Given the description of an element on the screen output the (x, y) to click on. 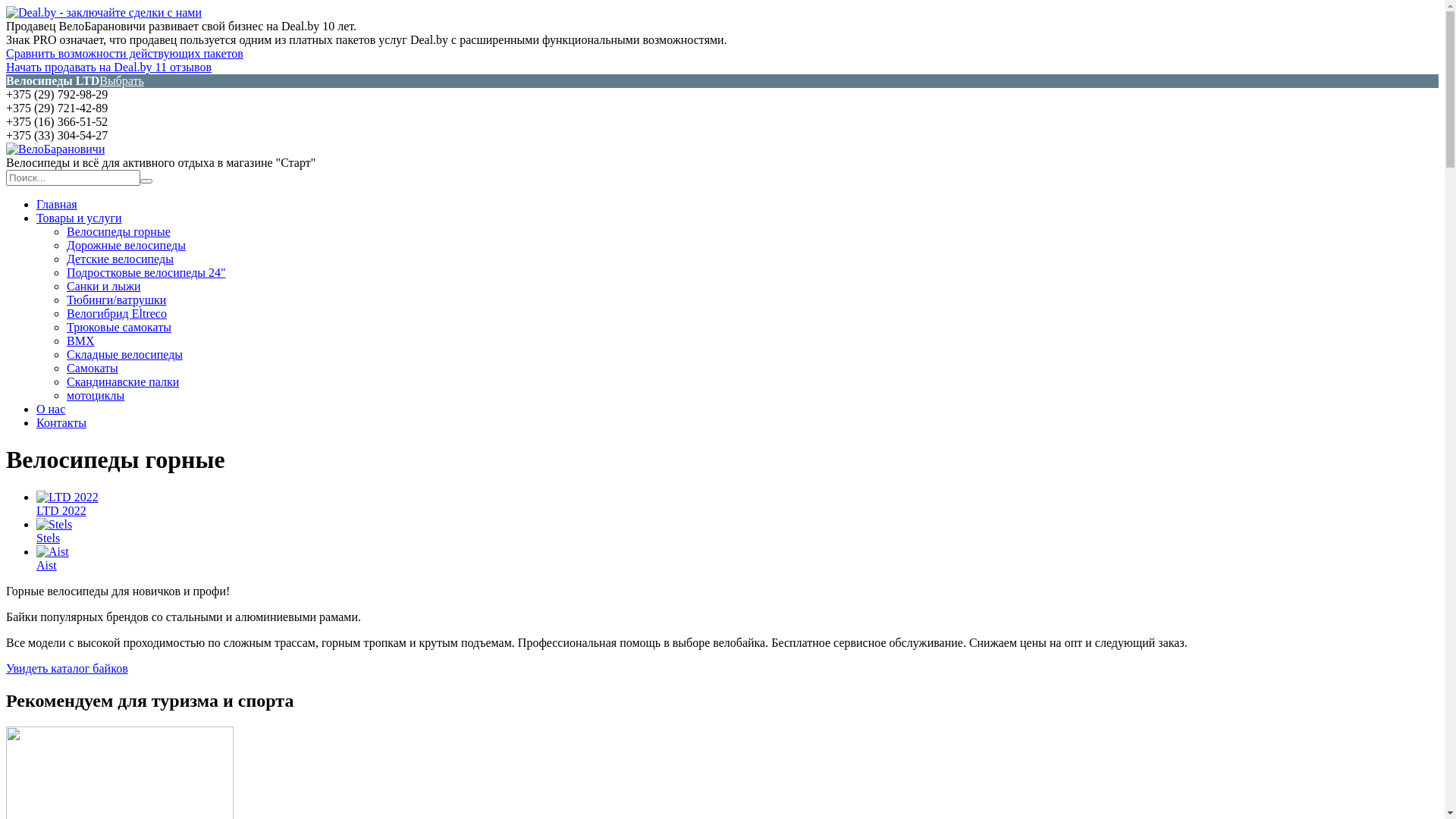
Stels Element type: hover (54, 523)
LTD 2022 Element type: hover (67, 496)
Aist Element type: hover (52, 551)
Stels Element type: text (47, 537)
LTD 2022 Element type: text (61, 510)
Aist Element type: text (46, 564)
BMX Element type: text (80, 340)
